Given the description of an element on the screen output the (x, y) to click on. 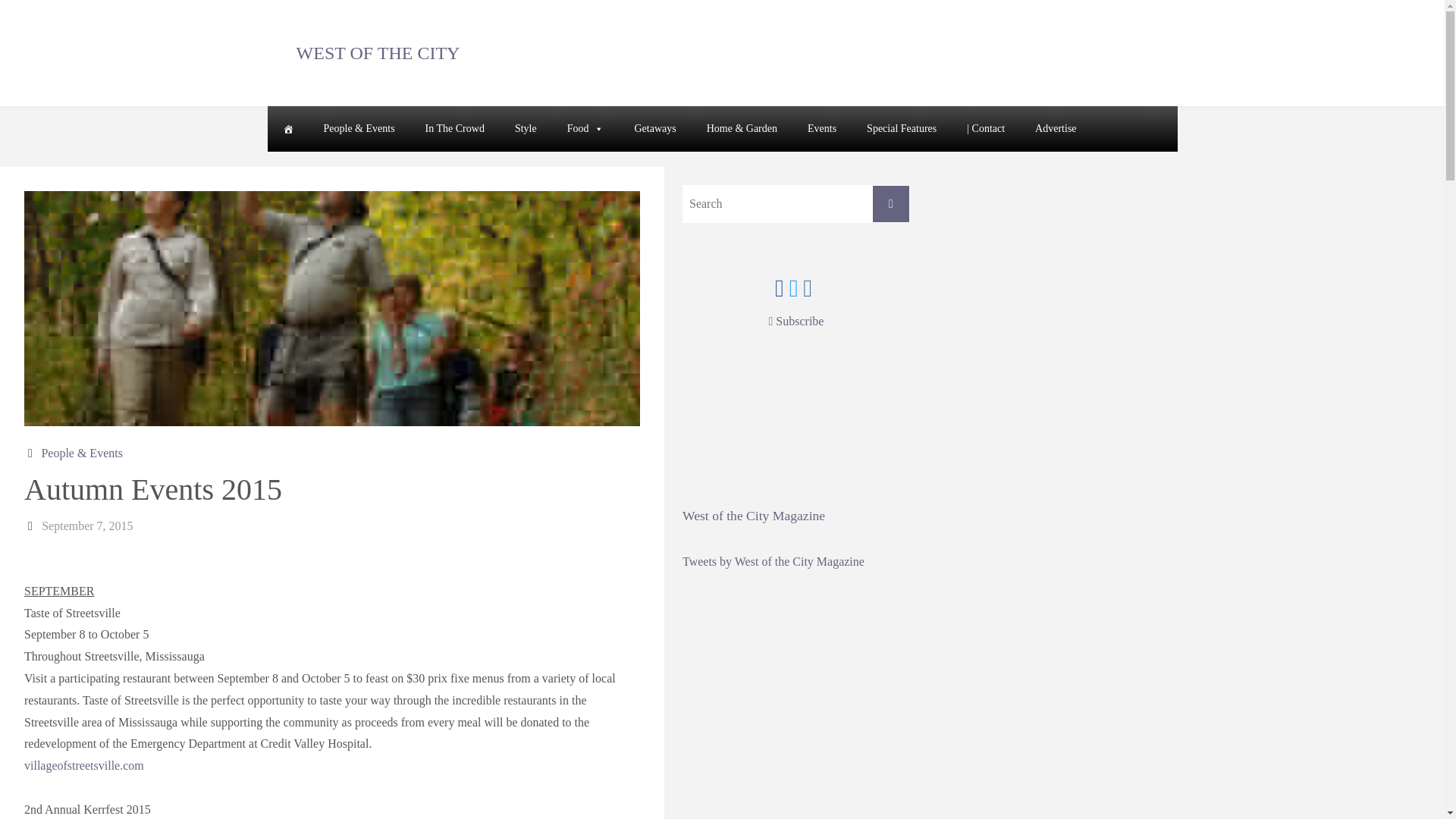
In The Crowd (454, 128)
Special Features (901, 128)
Food (585, 128)
Categories (31, 452)
WEST OF THE CITY (378, 52)
villageofstreetsville.com (84, 765)
Date (31, 525)
Events (821, 128)
Style (525, 128)
Getaways (654, 128)
Advertise (1055, 128)
